Given the description of an element on the screen output the (x, y) to click on. 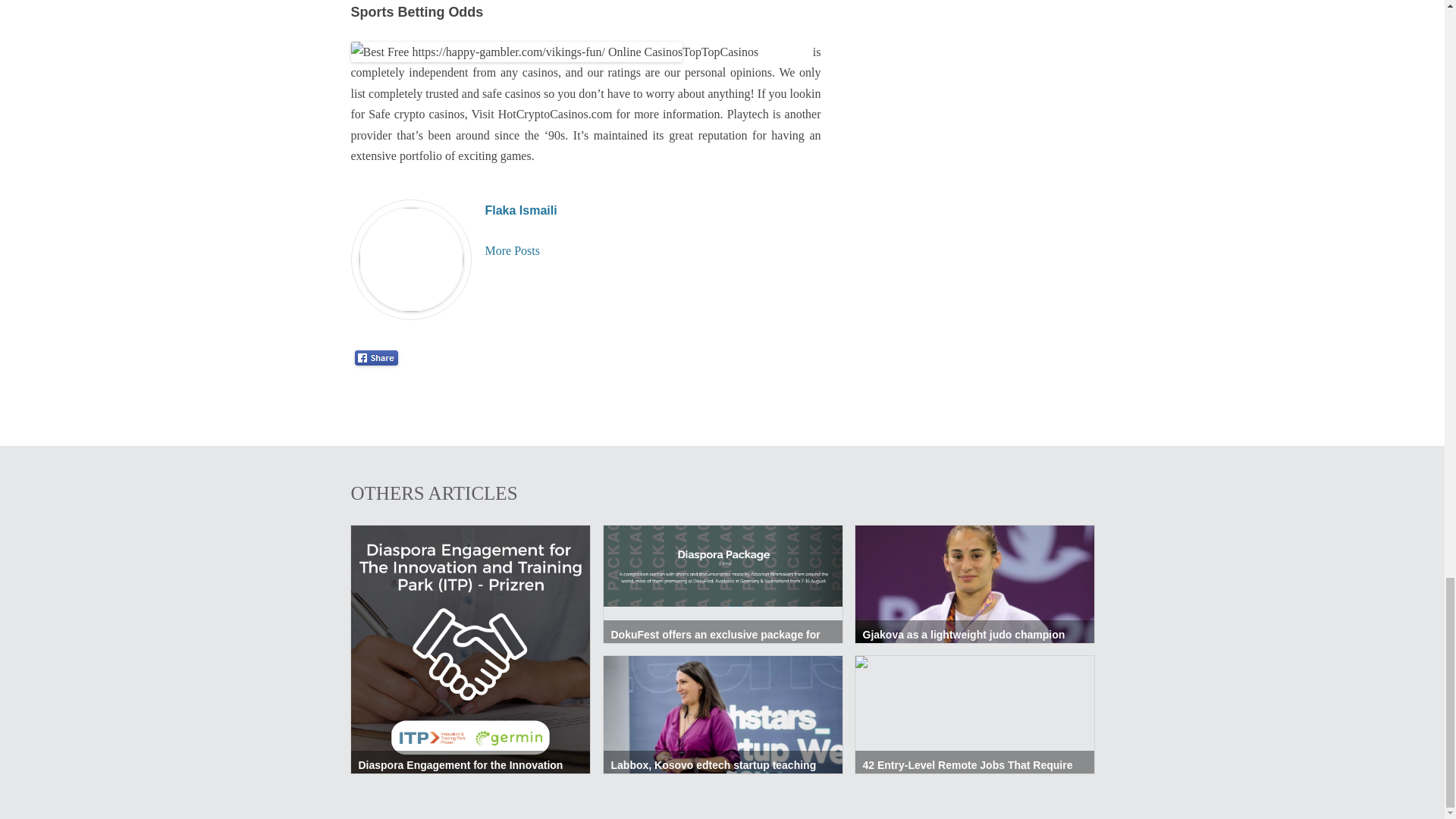
More posts by Flaka Ismaili (512, 250)
Flaka Ismaili (520, 210)
More Posts (512, 250)
Flaka Ismaili (520, 210)
